Given the description of an element on the screen output the (x, y) to click on. 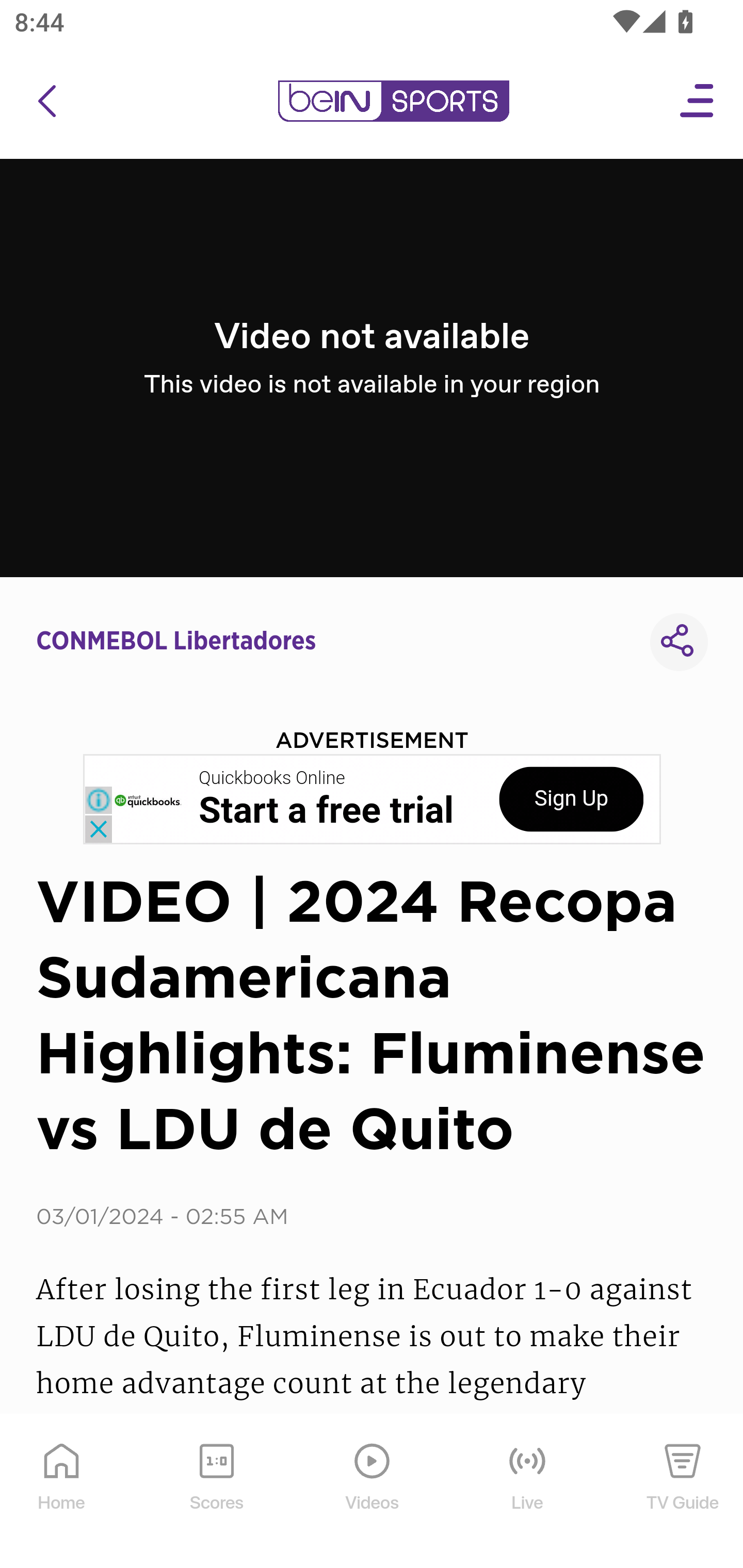
en-us?platform=mobile_android bein logo (392, 101)
icon back (46, 101)
Open Menu Icon (697, 101)
Quickbooks Online (272, 778)
Sign Up (571, 799)
Start a free trial (326, 810)
Home Home Icon Home (61, 1491)
Scores Scores Icon Scores (216, 1491)
Videos Videos Icon Videos (372, 1491)
TV Guide TV Guide Icon TV Guide (682, 1491)
